Given the description of an element on the screen output the (x, y) to click on. 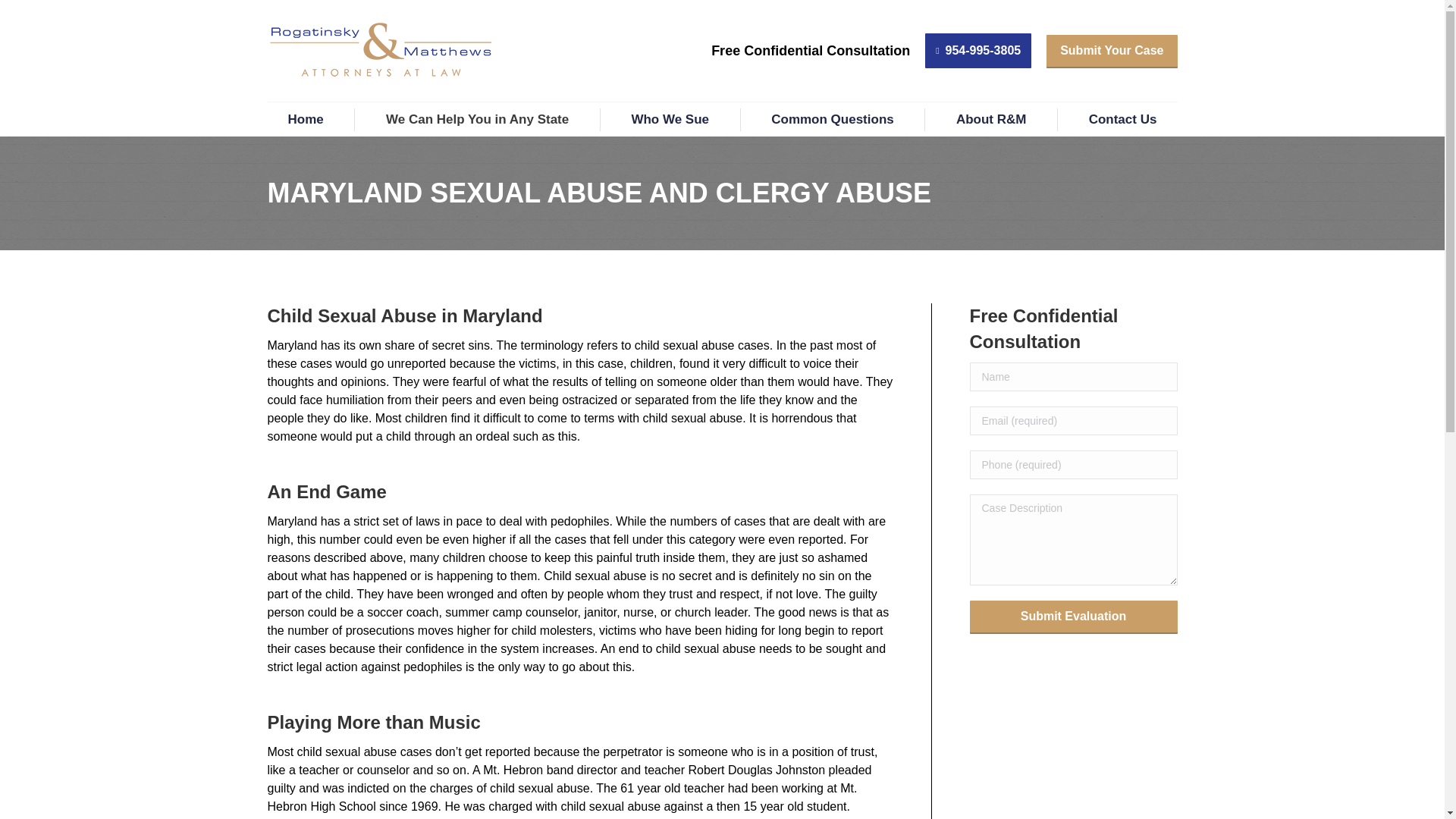
We Can Help You in Any State (477, 119)
Submit Evaluation (1072, 616)
954-995-3805 (977, 50)
Submit Your Case (1111, 50)
Home (304, 119)
